Given the description of an element on the screen output the (x, y) to click on. 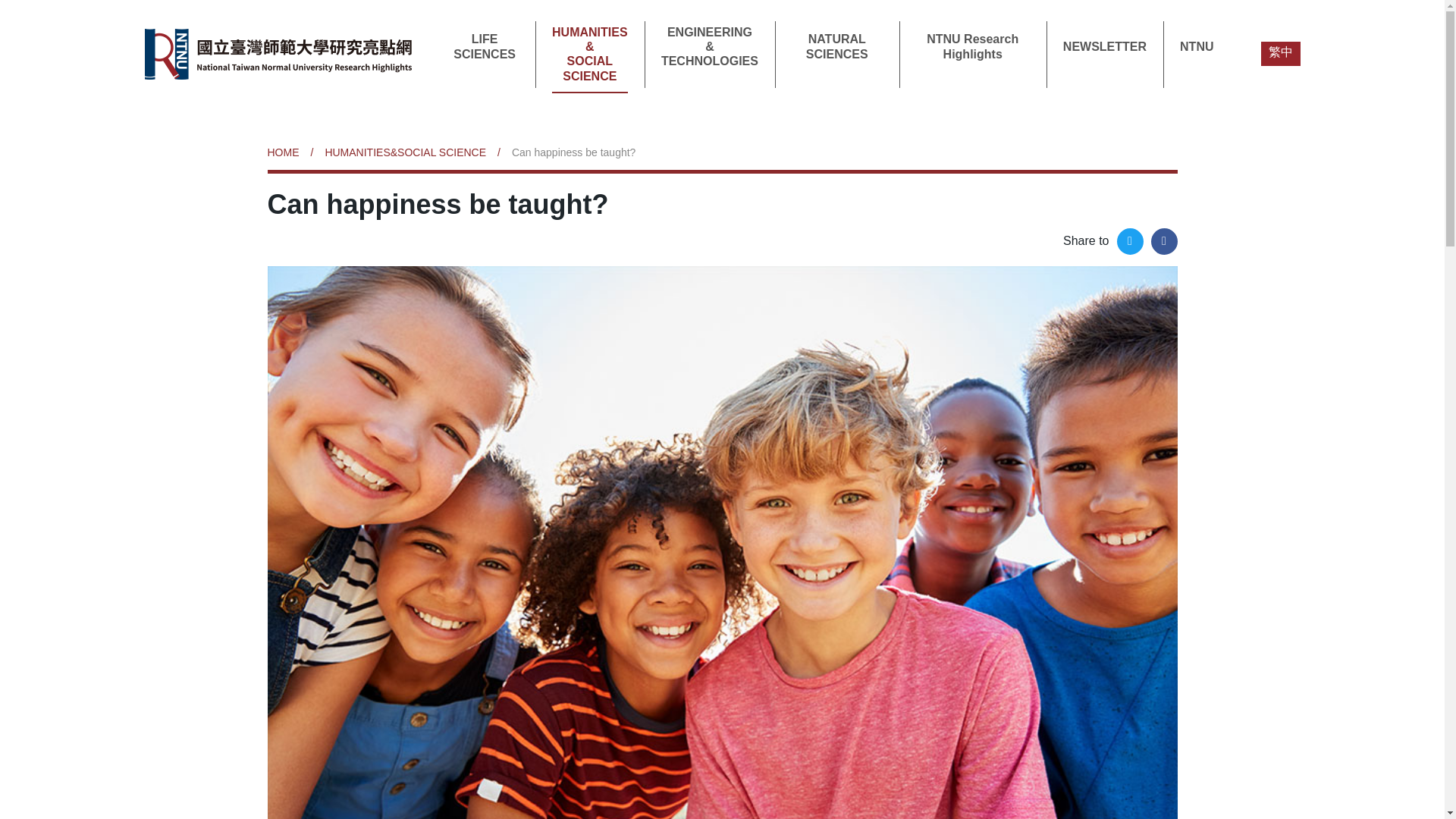
HOME (288, 152)
NATURAL SCIENCES (837, 46)
NEWSLETTER (1104, 46)
LIFE SCIENCES (483, 46)
NTNU Research Highlights (972, 46)
